Given the description of an element on the screen output the (x, y) to click on. 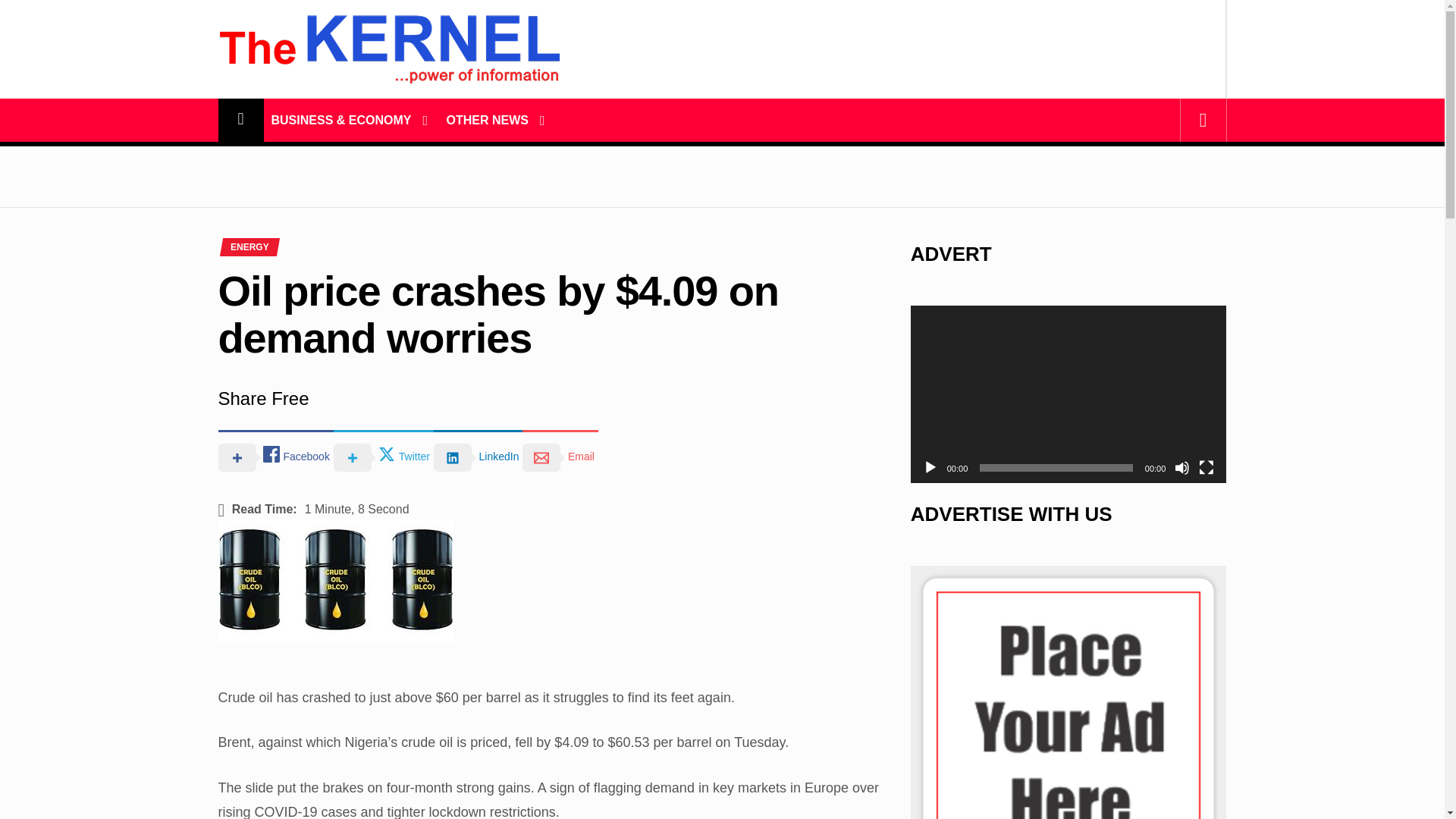
Twitter (383, 456)
Facebook (275, 456)
LinkedIn (477, 456)
Play (930, 467)
ENERGY (249, 246)
Email (559, 456)
Home (240, 119)
OTHER NEWS (486, 119)
Fullscreen (1206, 467)
THE KERNEL ONLINE NEWSPAPER (388, 133)
